Given the description of an element on the screen output the (x, y) to click on. 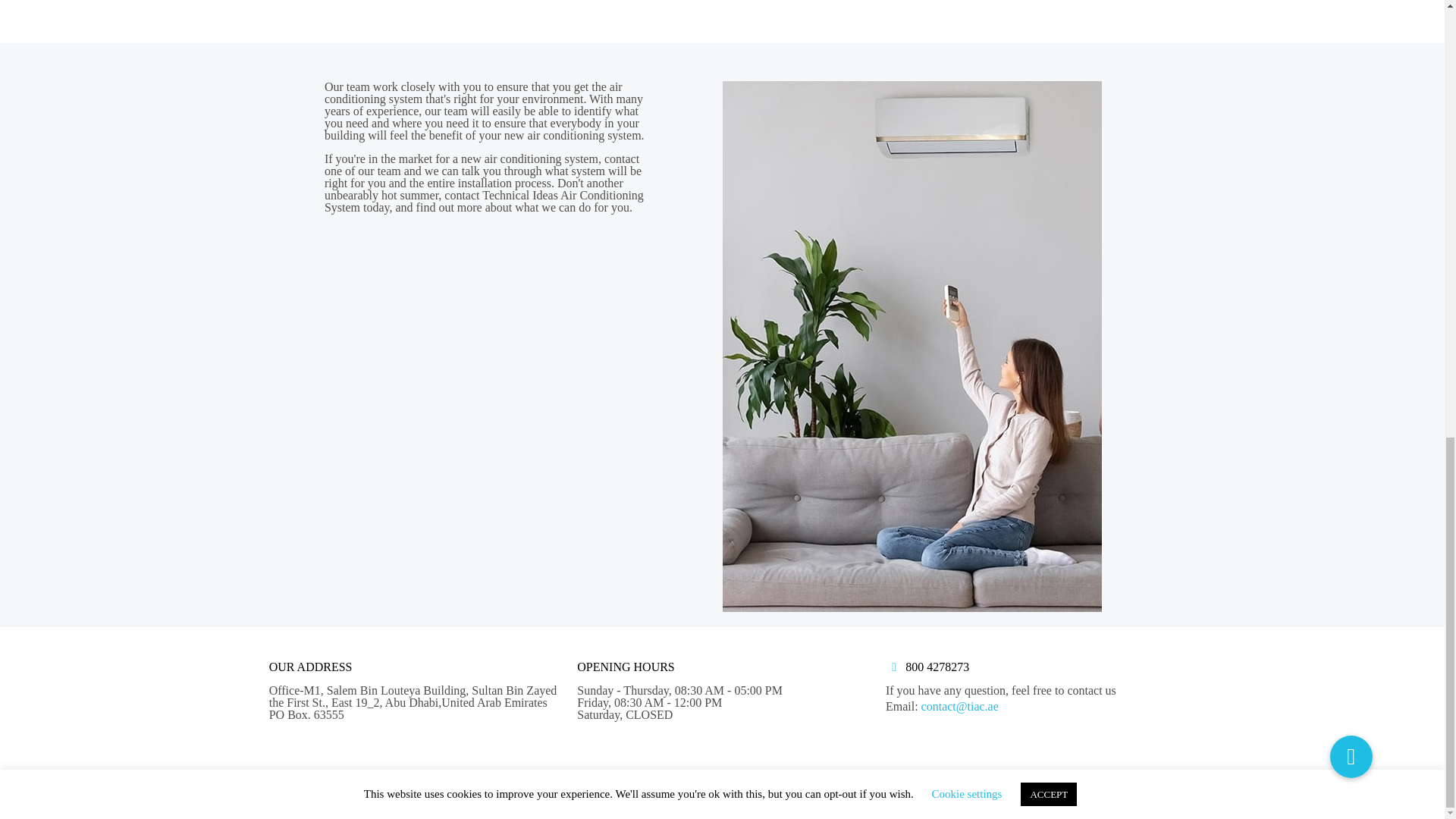
Localmedia.ae (639, 784)
LinkedIn (1100, 784)
Twitter (1079, 784)
Facebook (1059, 784)
Instagram (1120, 784)
800 4278273 (937, 666)
